Given the description of an element on the screen output the (x, y) to click on. 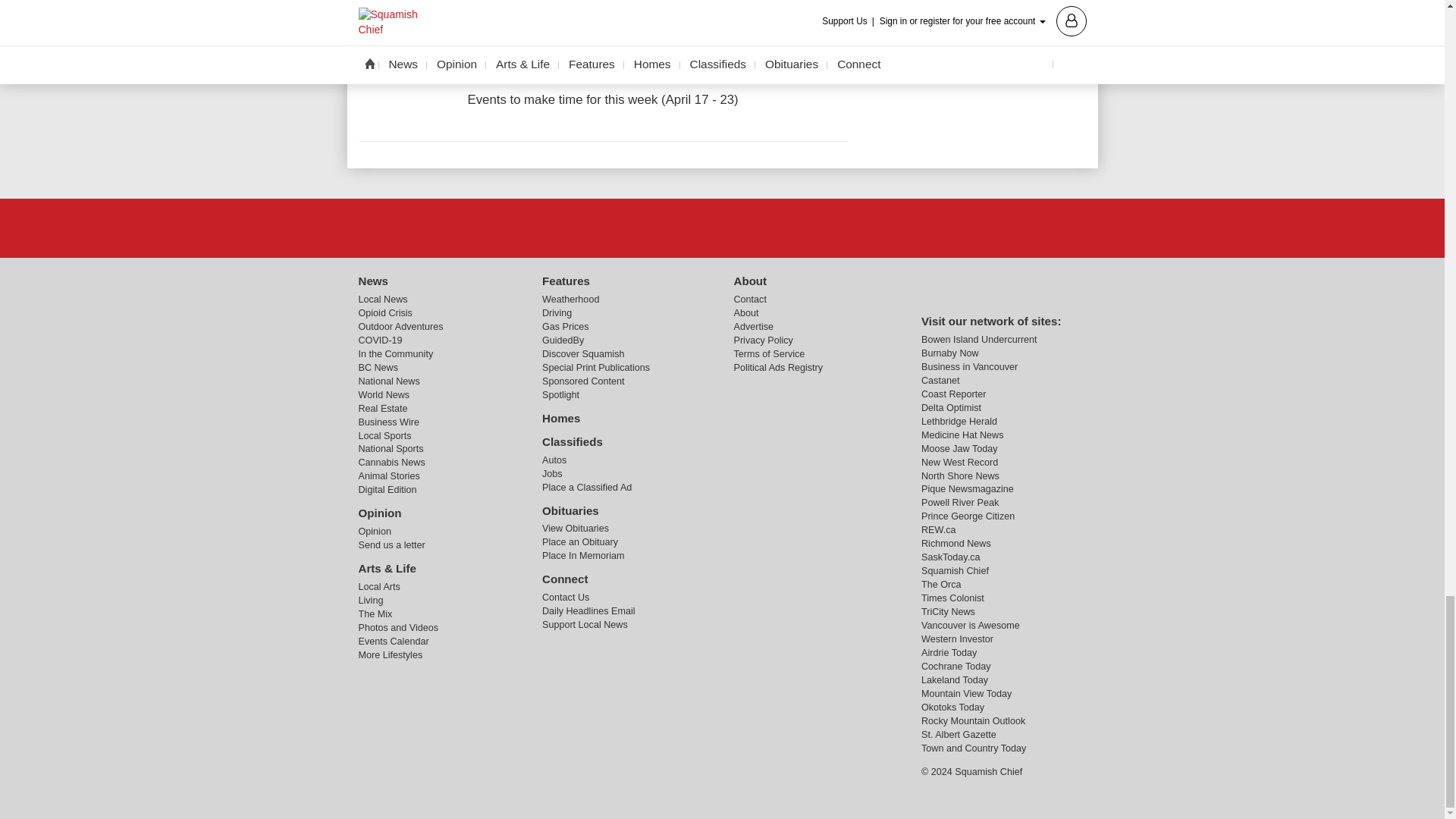
Facebook (683, 226)
Instagram (760, 226)
X (721, 226)
